Given the description of an element on the screen output the (x, y) to click on. 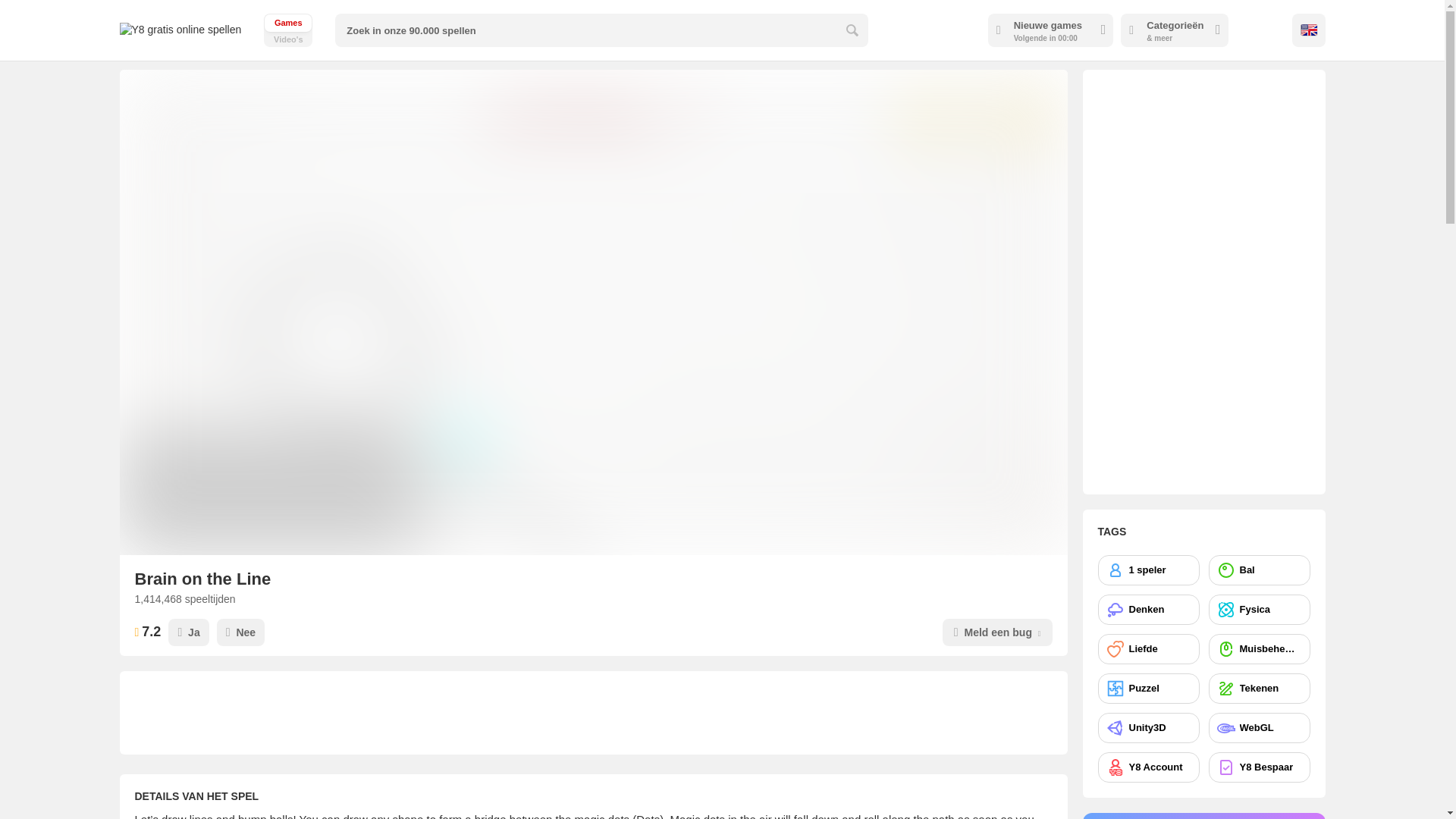
1 speler (1148, 570)
Y8 Bespaar (288, 29)
Puzzel (1259, 767)
Liefde (1148, 688)
Video's (1148, 648)
WebGL (288, 29)
Unity3D (1259, 727)
Muisbehendigheid (1148, 727)
Y8 Account (1259, 648)
Bal (1148, 767)
Denken (1259, 570)
Tekenen (1148, 609)
Fysica (1259, 688)
